Given the description of an element on the screen output the (x, y) to click on. 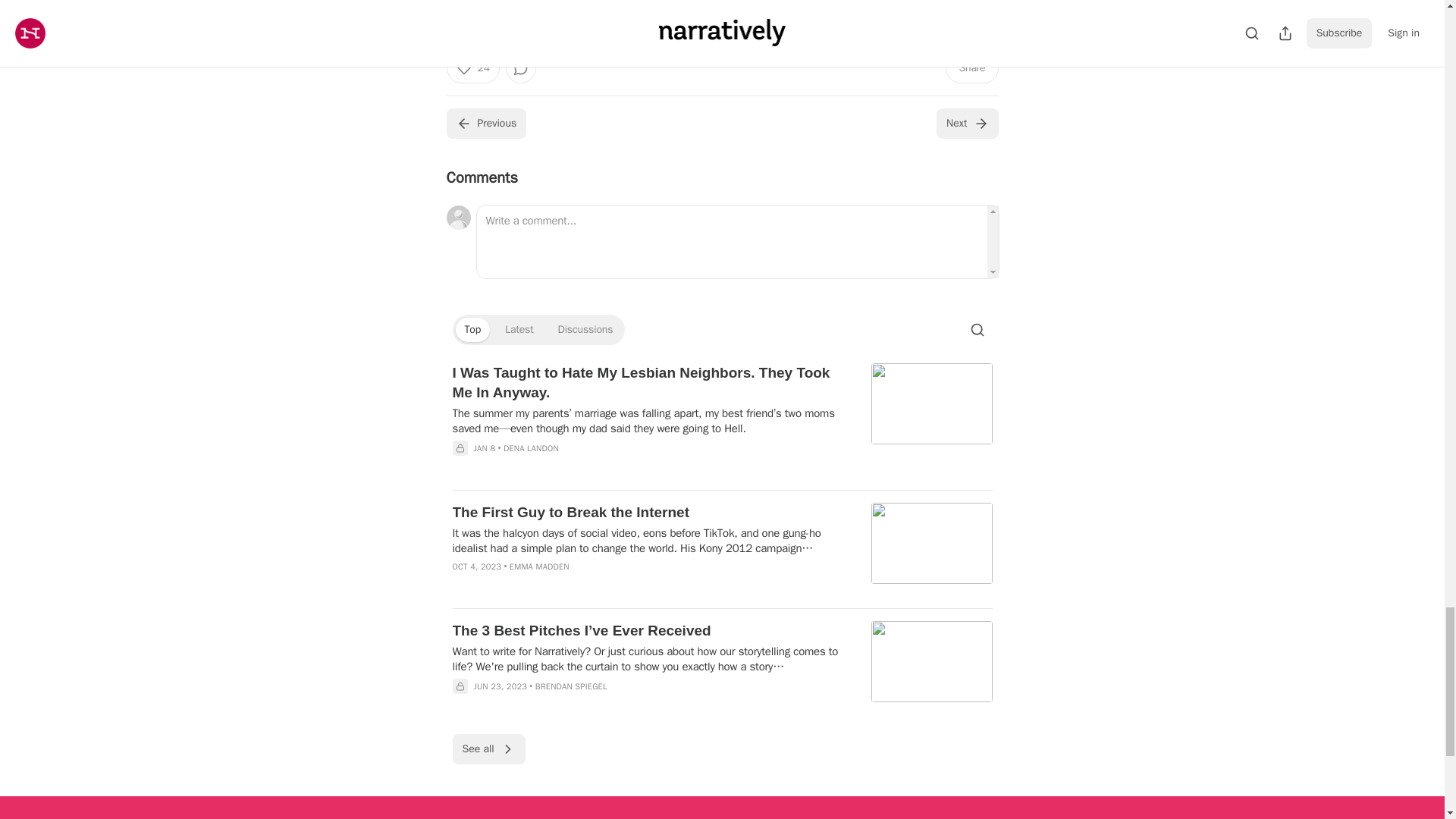
24 Likes (604, 11)
24 (472, 68)
1 Restack (658, 11)
